Given the description of an element on the screen output the (x, y) to click on. 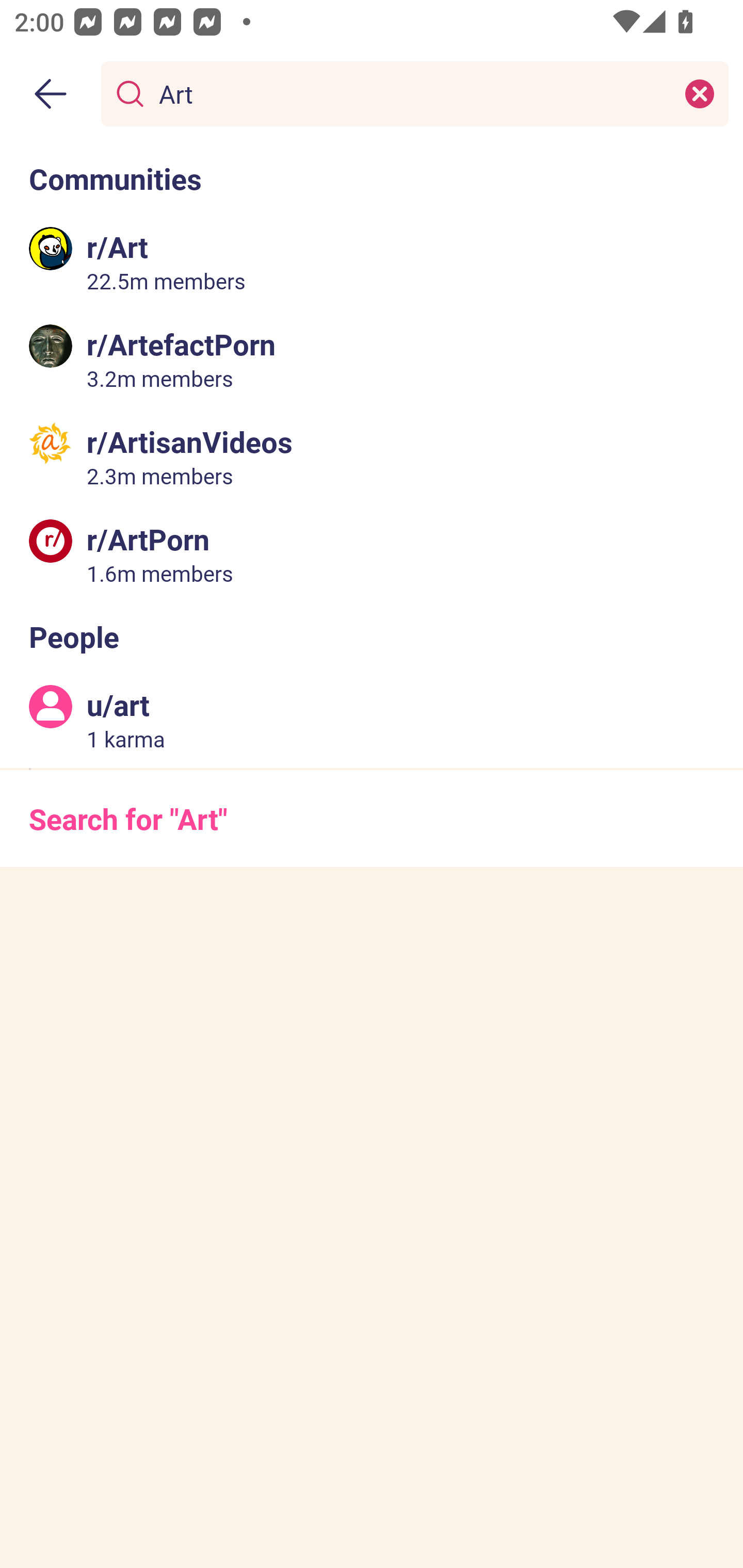
Back (50, 93)
Art (410, 93)
Clear search (699, 93)
r/Art 22.5m members 22.5 million members (371, 261)
r/ArtefactPorn 3.2m members 3.2 million members (371, 358)
r/ArtisanVideos 2.3m members 2.3 million members (371, 455)
r/ArtPorn 1.6m members 1.6 million members (371, 553)
u/art 1 karma 1 karma (371, 719)
Search for "Art" (371, 818)
